Given the description of an element on the screen output the (x, y) to click on. 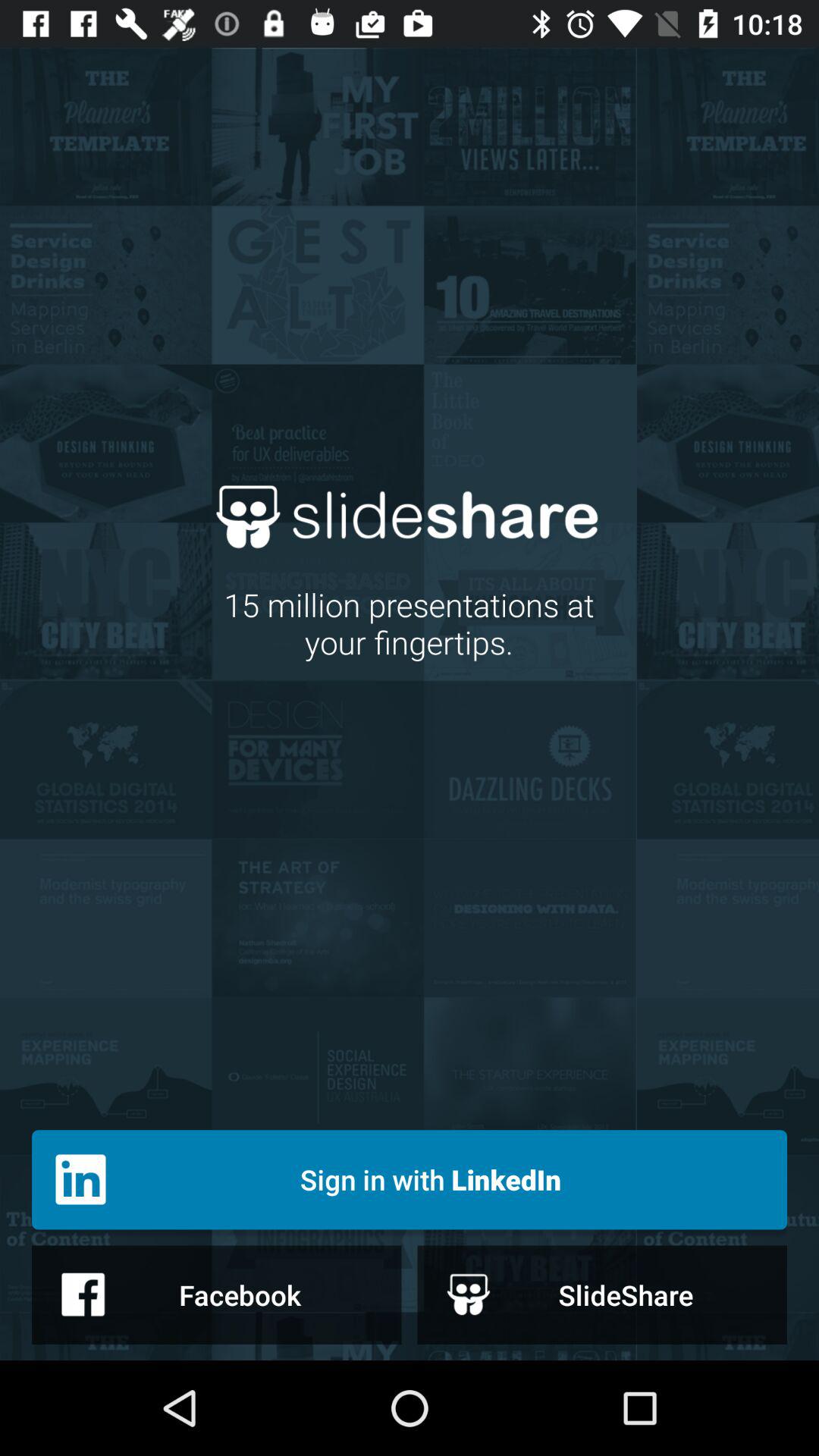
turn on the icon at the bottom right corner (602, 1294)
